Given the description of an element on the screen output the (x, y) to click on. 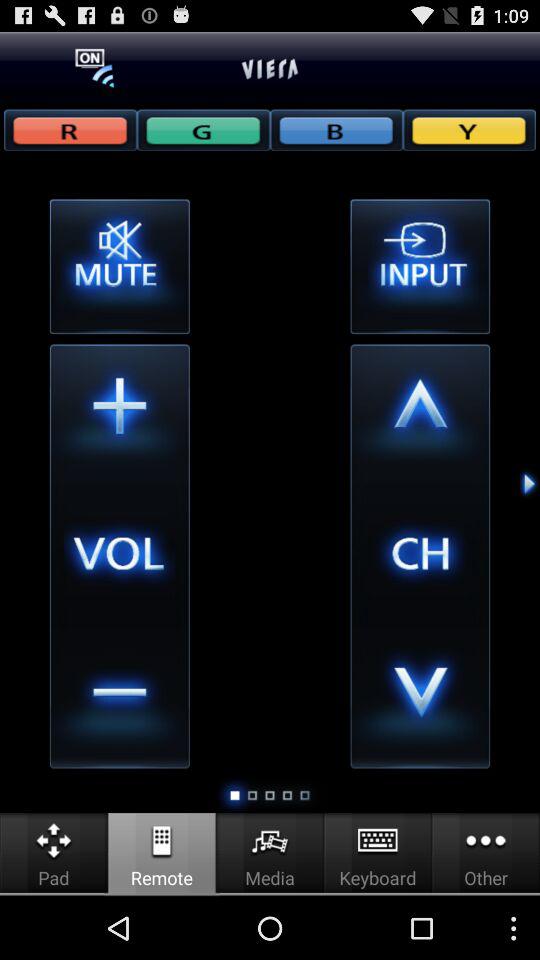
select the fourth letter under viera (469, 129)
click on the text which is between down and up arrow (420, 555)
select the option remote icon on right side of pad icon (161, 840)
select the icon which is above the media option (269, 840)
click on title of the page (270, 67)
